Given the description of an element on the screen output the (x, y) to click on. 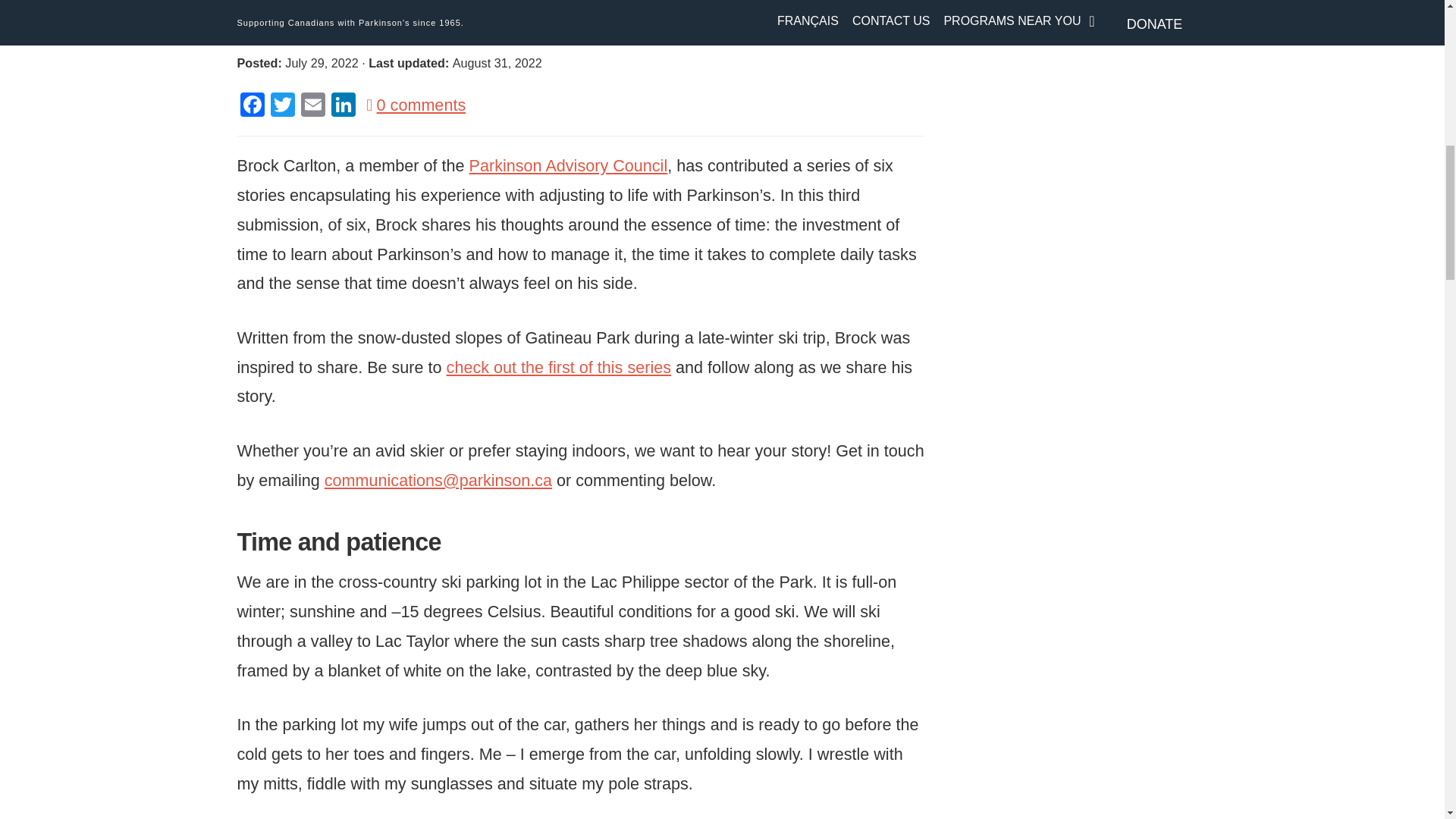
Twitter (281, 106)
Email (312, 106)
LinkedIn (342, 106)
Facebook (250, 106)
